Given the description of an element on the screen output the (x, y) to click on. 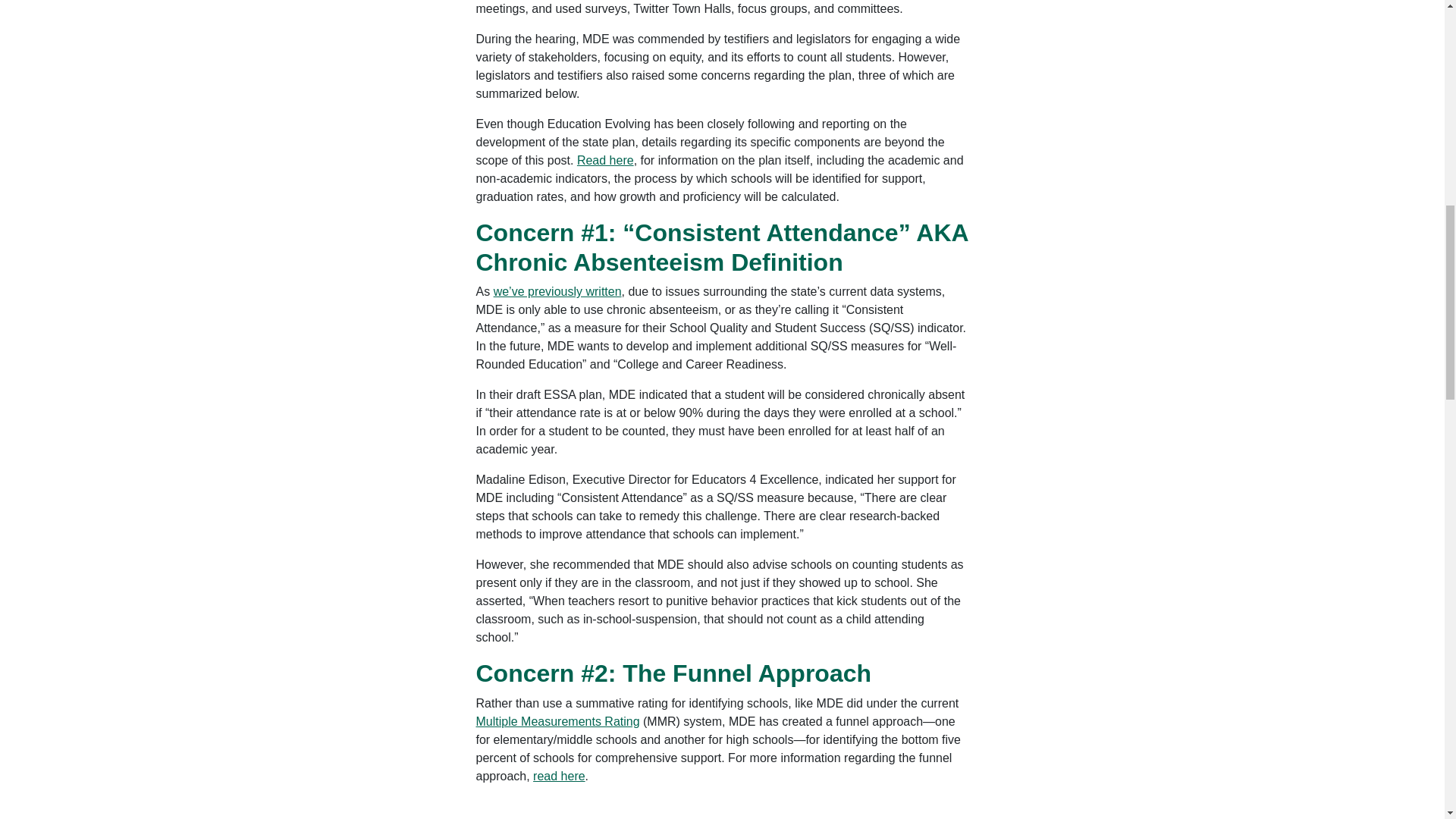
Multiple Measurements Rating (558, 721)
Read here (604, 160)
read here (558, 775)
